Given the description of an element on the screen output the (x, y) to click on. 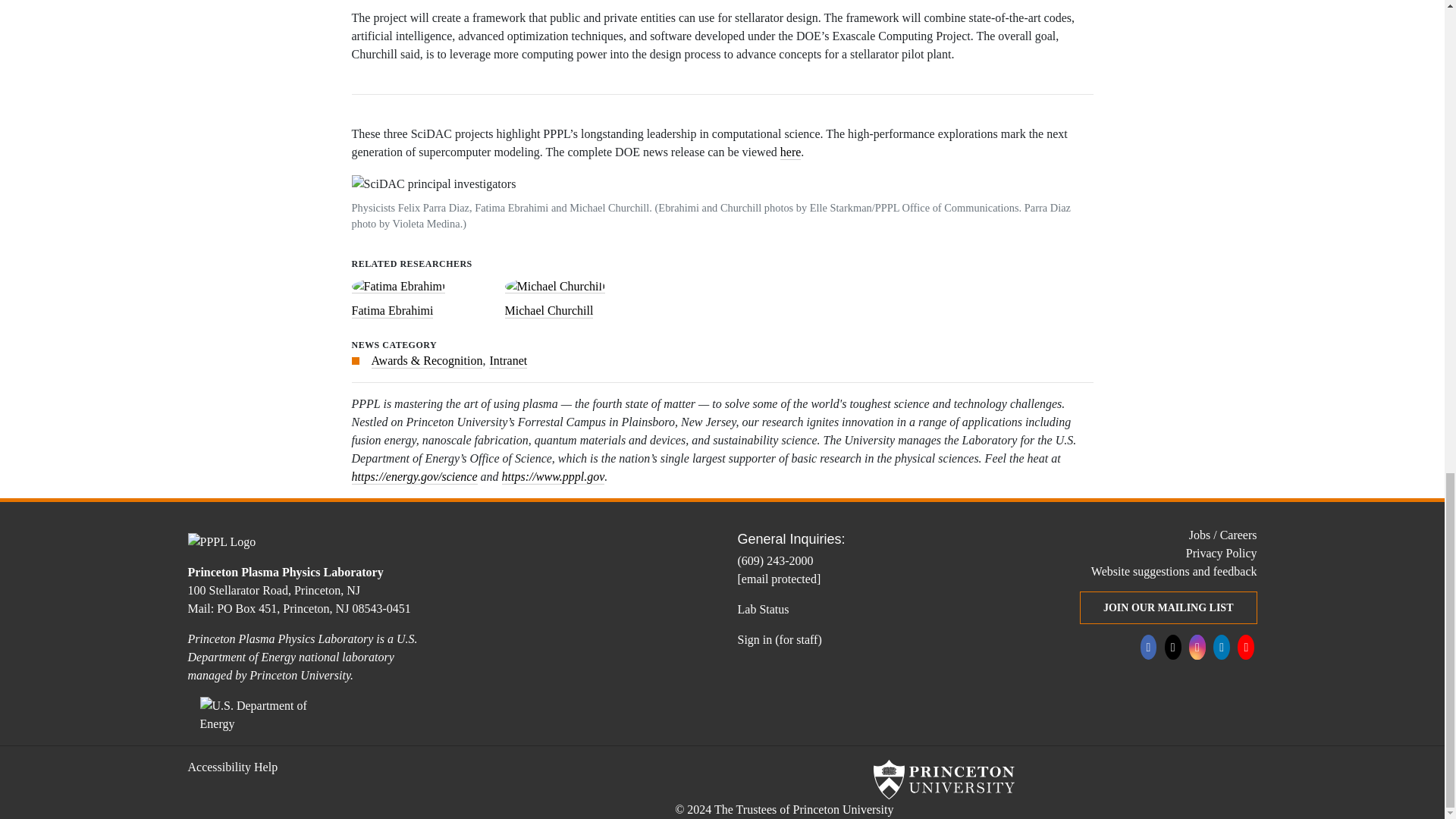
X (1172, 646)
YouTube (1245, 646)
LinkedIn (1221, 646)
Facebook (1148, 646)
Instagram (1197, 646)
Princeton University (943, 779)
